Given the description of an element on the screen output the (x, y) to click on. 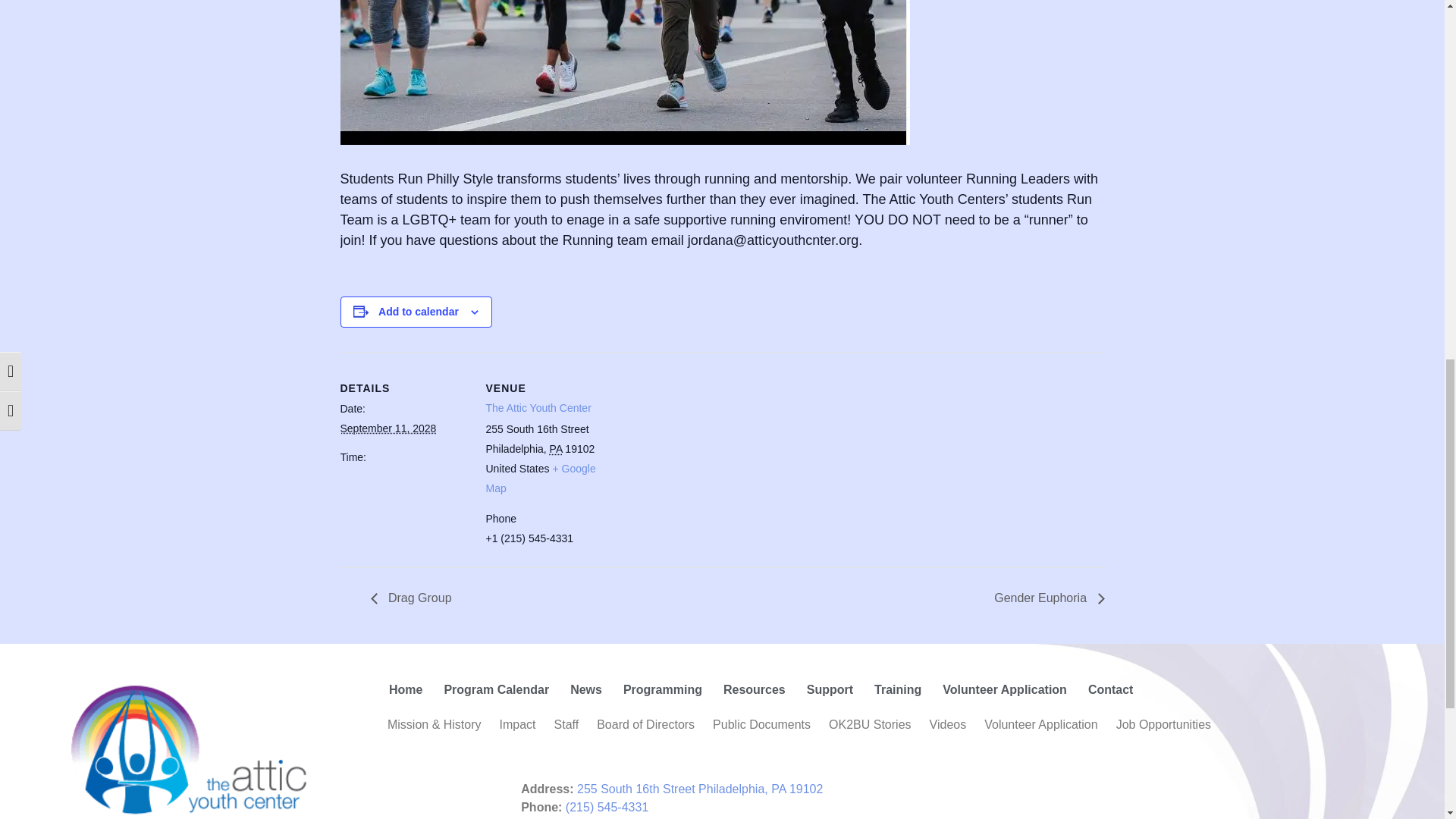
2028-09-11 (387, 428)
Pennsylvania (556, 449)
